Given the description of an element on the screen output the (x, y) to click on. 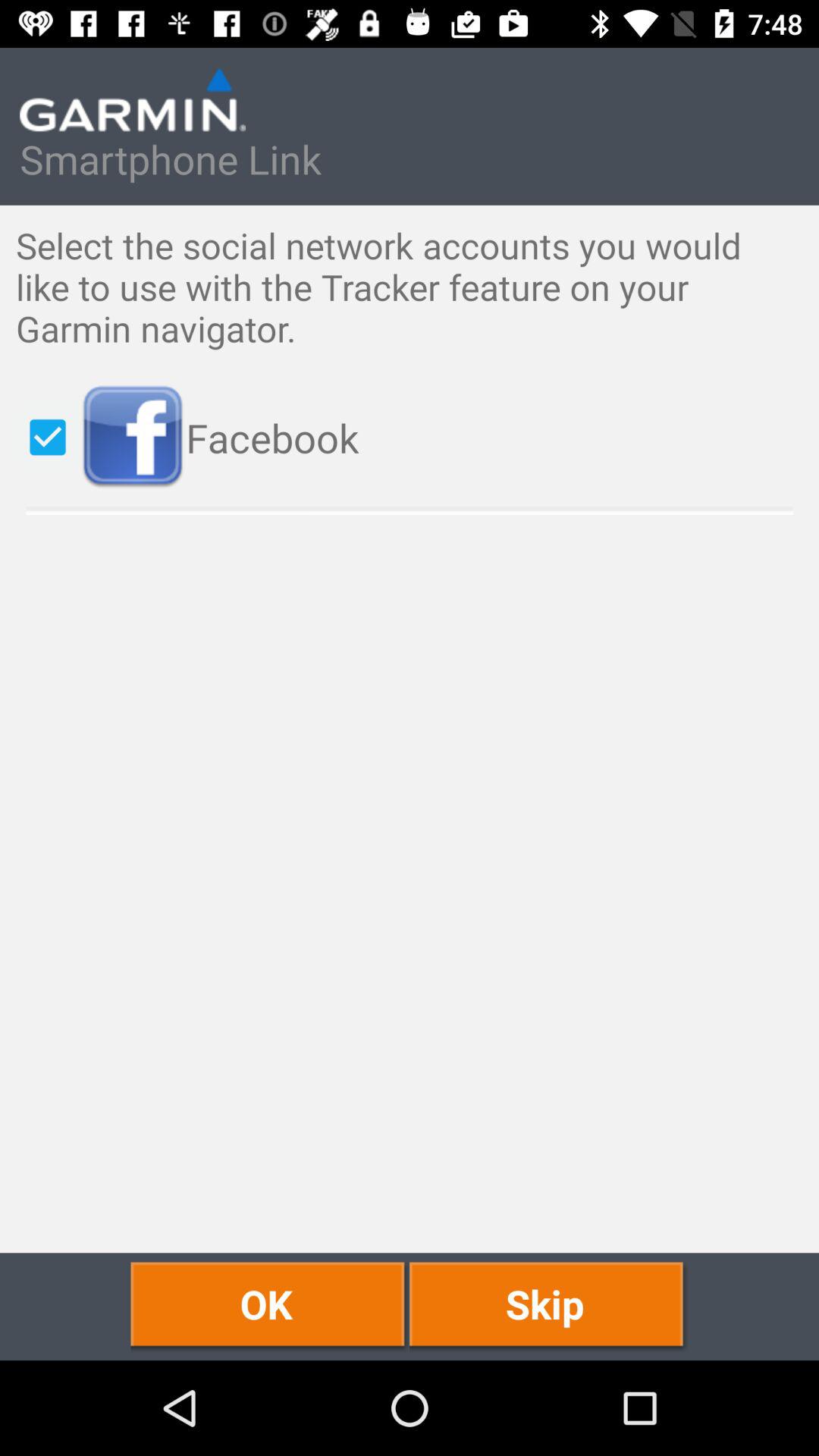
open item below the select the social icon (47, 437)
